Given the description of an element on the screen output the (x, y) to click on. 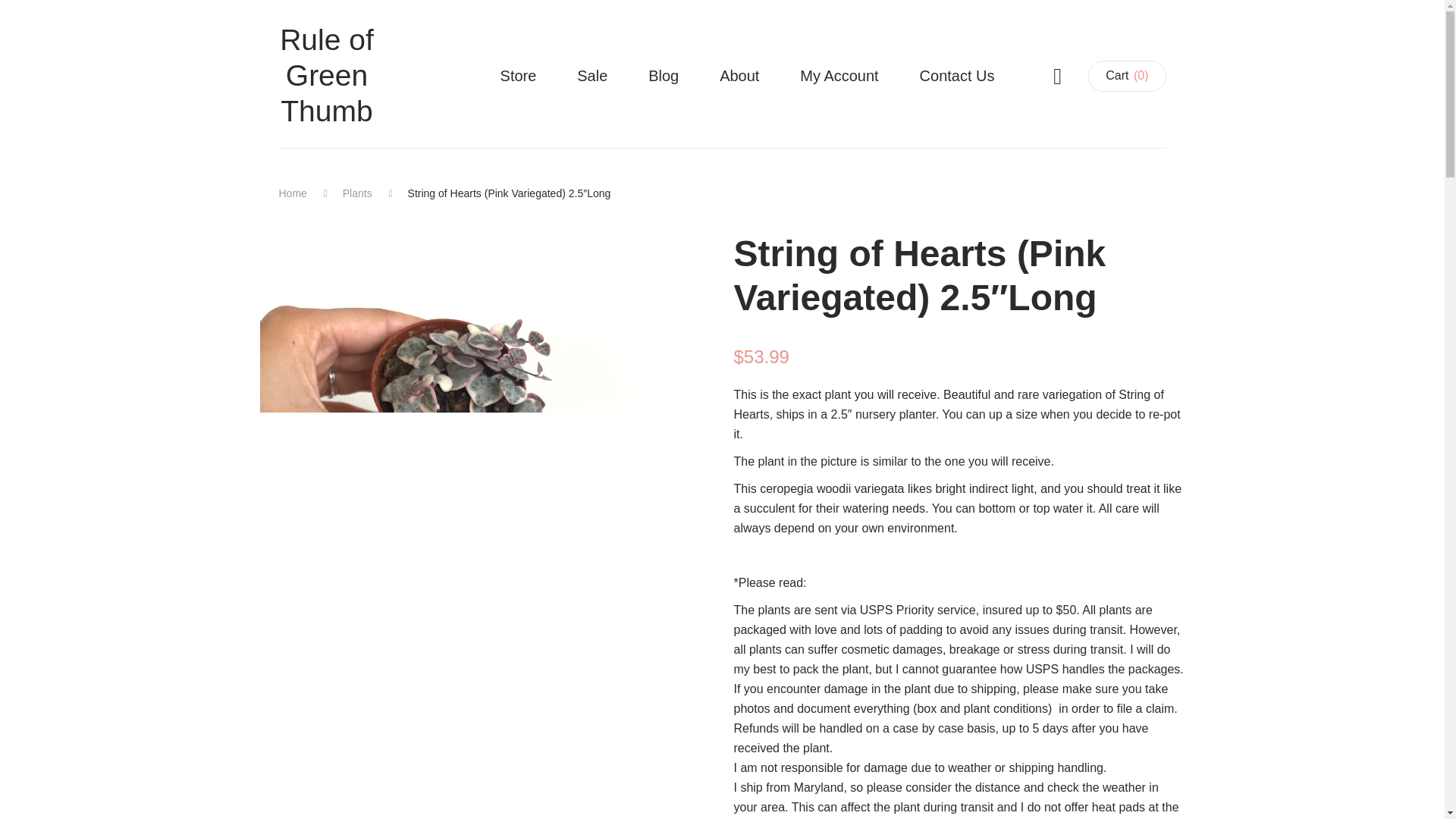
My Account (839, 75)
Contact Us (957, 75)
About (738, 75)
Store (518, 75)
View your shopping cart (1126, 75)
Home (293, 193)
Rule of Green Thumb (327, 75)
Plants (357, 193)
